Given the description of an element on the screen output the (x, y) to click on. 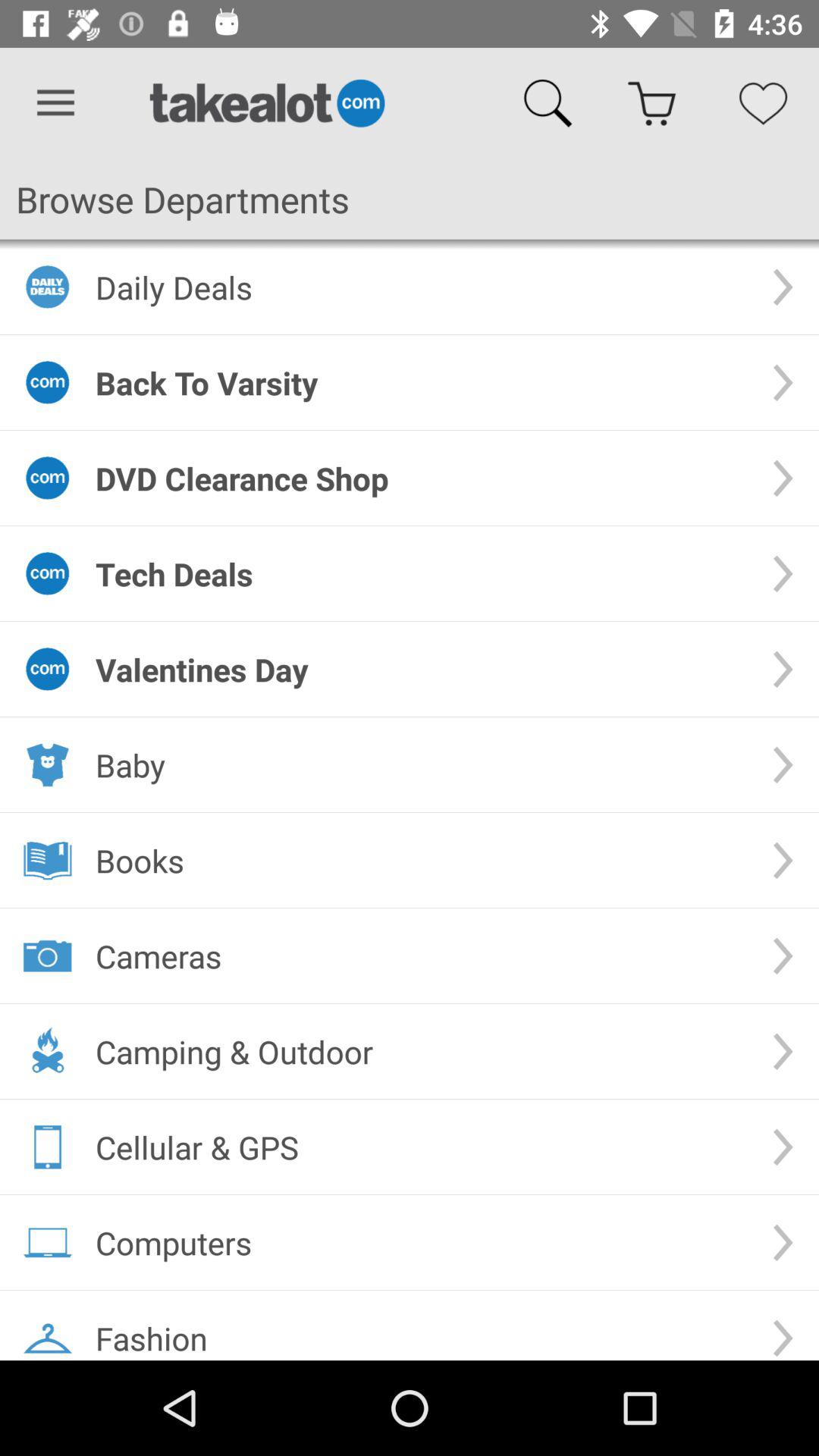
press the icon above the books icon (421, 764)
